Given the description of an element on the screen output the (x, y) to click on. 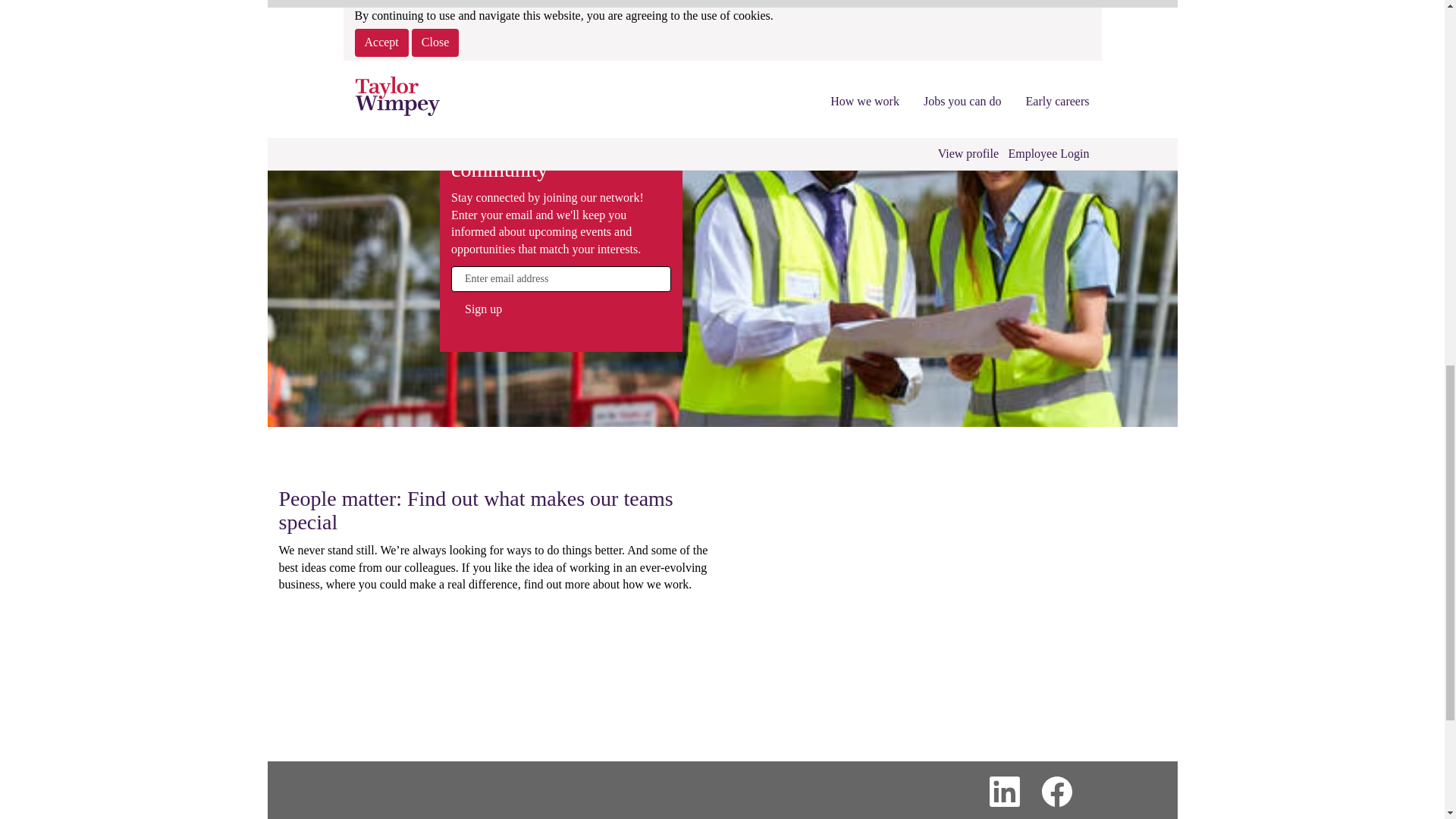
linkedin (1004, 793)
Sign up (481, 309)
facebook (1055, 793)
Sign up (481, 309)
Sign up (481, 309)
